Given the description of an element on the screen output the (x, y) to click on. 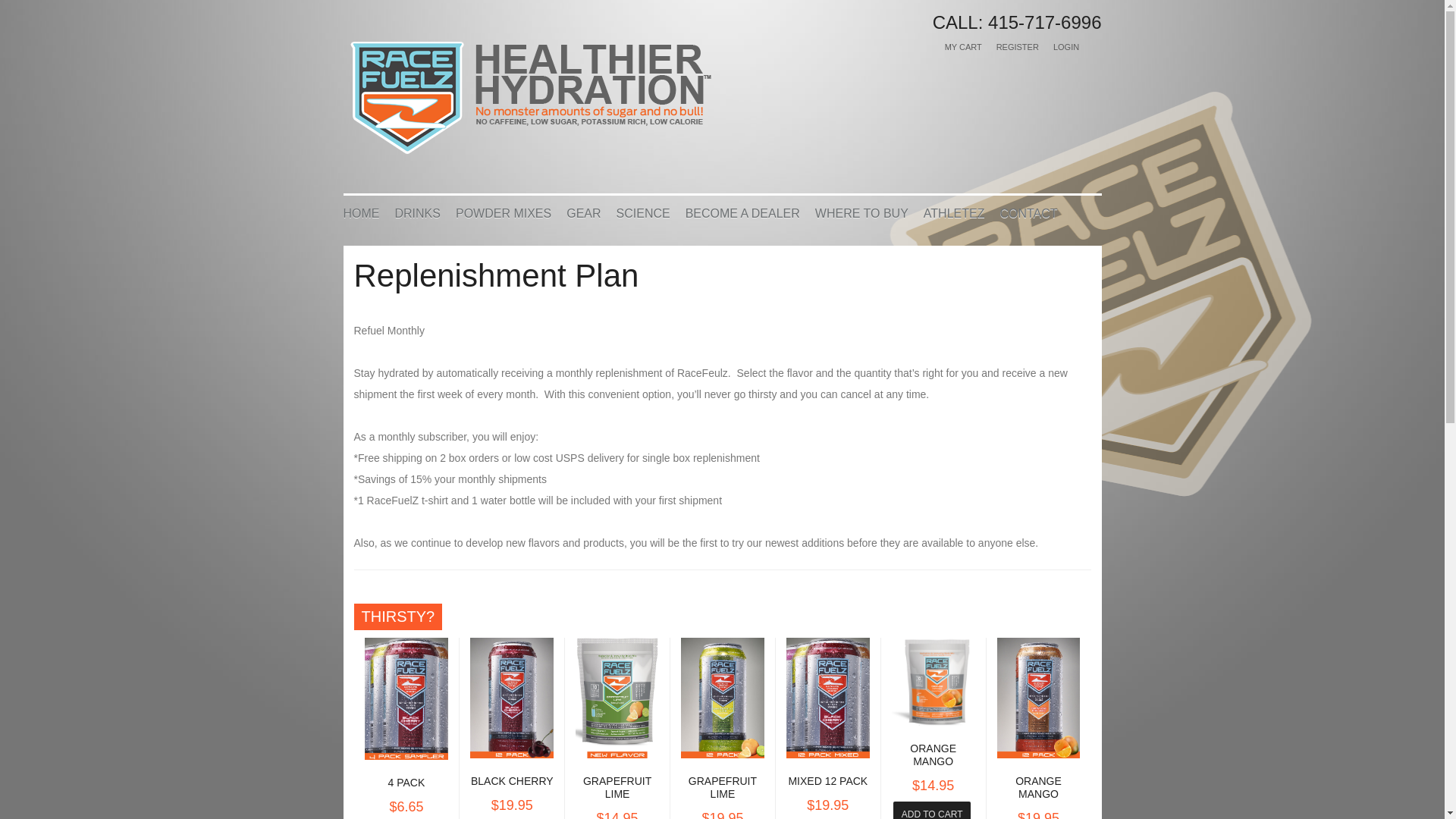
Add to Cart (932, 810)
SCIENCE (642, 212)
Orange Mango (933, 754)
GEAR (582, 212)
Add to Cart (932, 810)
4 PACK (406, 782)
Replenishment Plan (496, 275)
HOME (360, 212)
Mixed 12 Pack (827, 780)
REGISTER (1017, 46)
Grapefruit Lime (616, 787)
Black Cherry (511, 780)
BECOME A DEALER (742, 212)
4 Pack (406, 782)
WHERE TO BUY (861, 212)
